Given the description of an element on the screen output the (x, y) to click on. 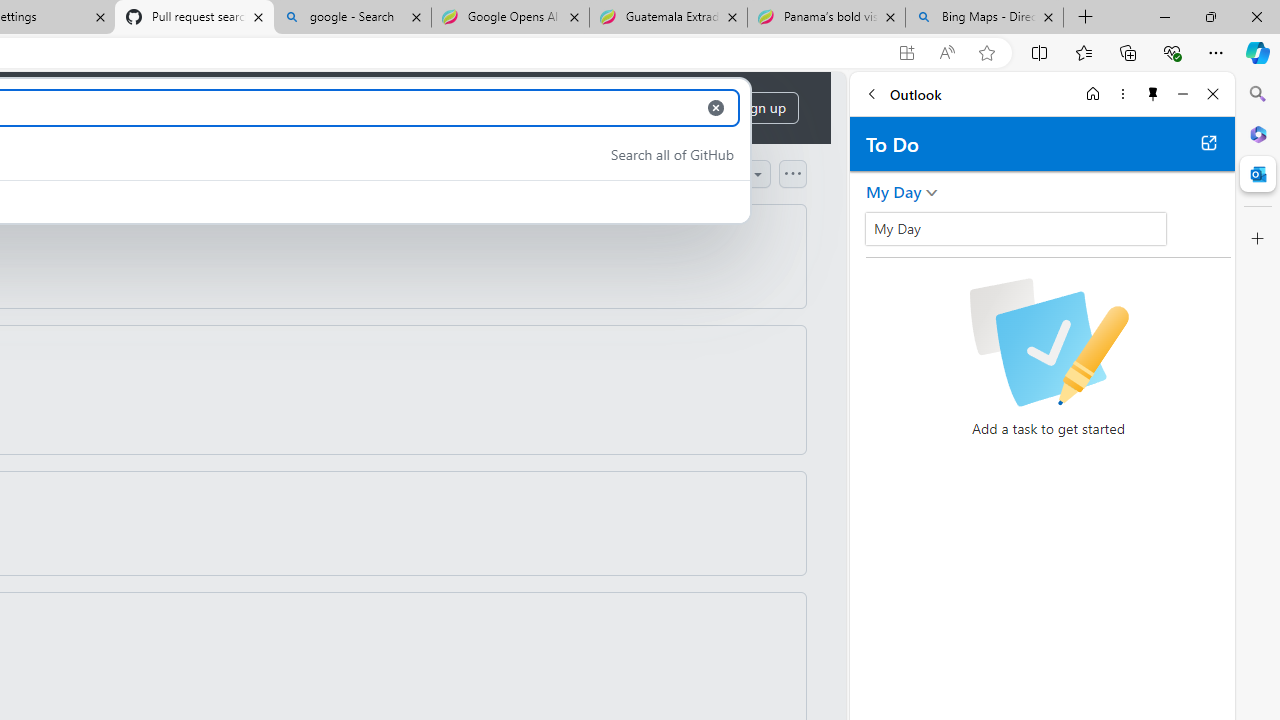
google - Search (352, 17)
Open in new tab (1208, 142)
Checkbox with a pencil (1047, 342)
Sort by: Best match (700, 173)
Google Opens AI Academy for Startups - Nearshore Americas (509, 17)
